Given the description of an element on the screen output the (x, y) to click on. 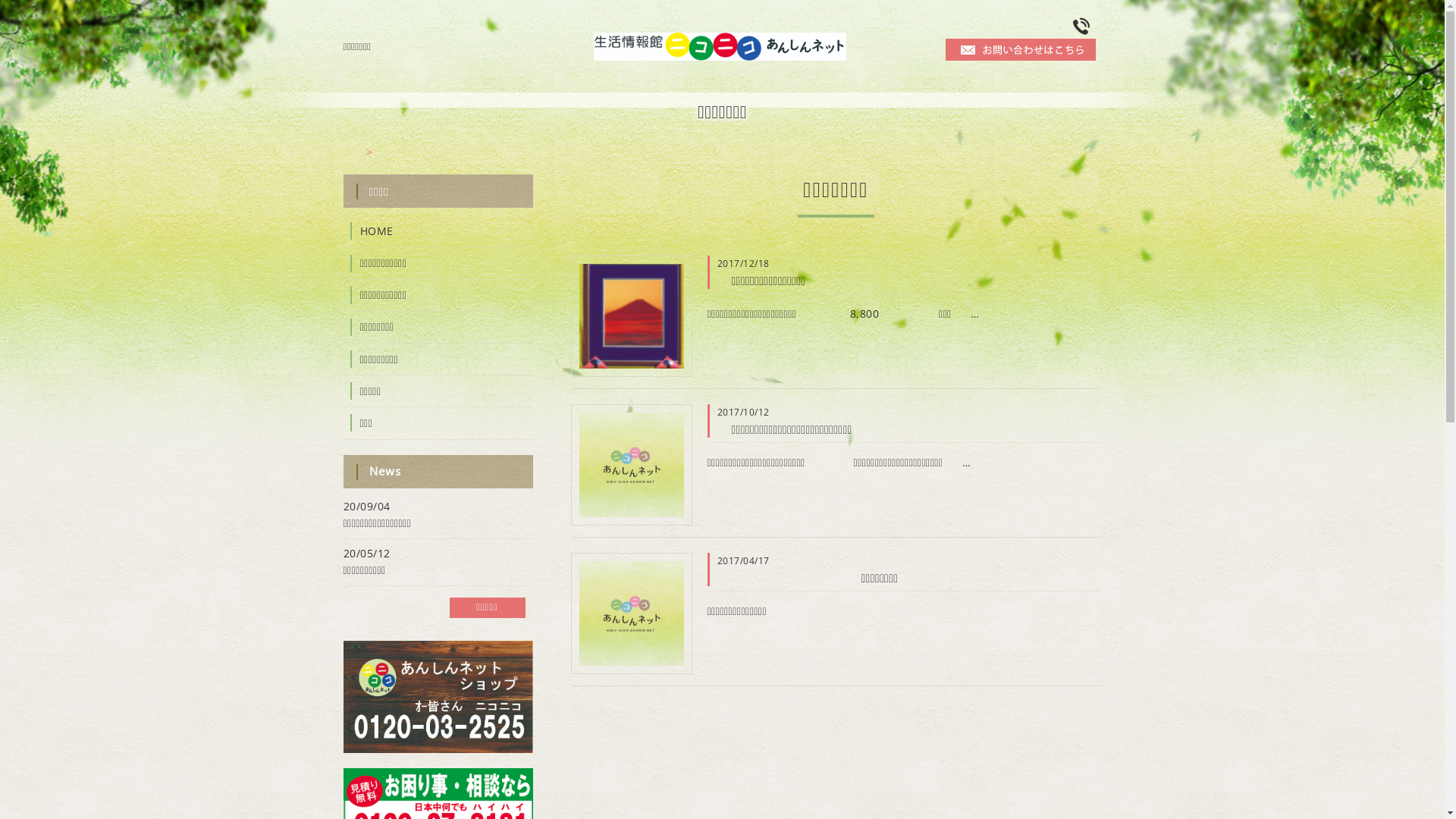
HOME Element type: text (437, 230)
